Given the description of an element on the screen output the (x, y) to click on. 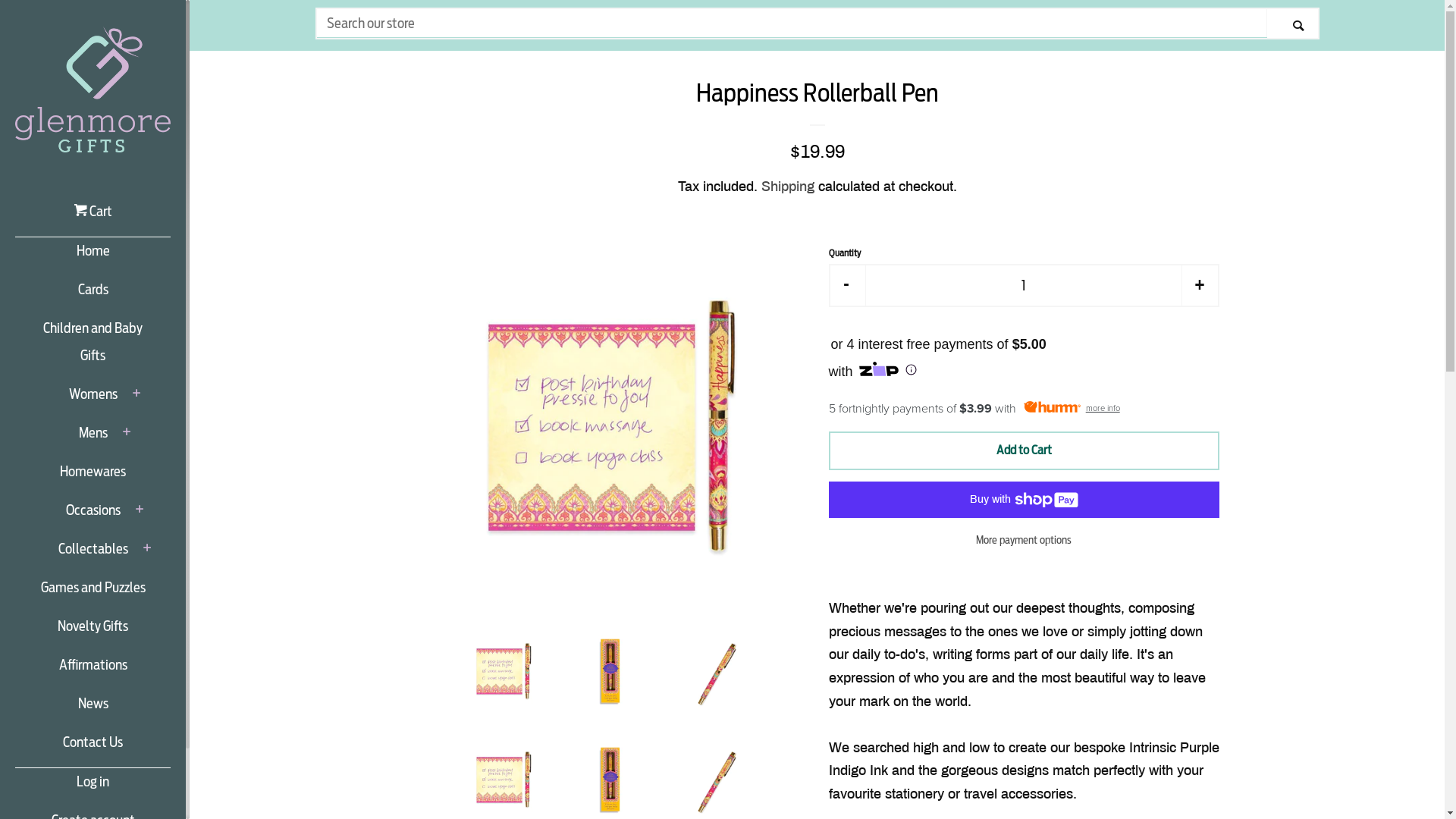
Search Element type: text (1291, 23)
5 fortnightly payments of $3.99 with more info Element type: text (1023, 408)
News Element type: text (92, 709)
Occasions Element type: text (92, 515)
Home Element type: text (92, 256)
Cart Element type: text (92, 216)
Contact Us Element type: text (92, 747)
Cards Element type: text (92, 295)
Close Element type: text (1394, 100)
Children and Baby Gifts Element type: text (92, 347)
Log in Element type: text (92, 787)
Games and Puzzles Element type: text (92, 593)
Shipping Element type: text (787, 186)
Womens Element type: text (92, 399)
More payment options Element type: text (1023, 539)
Affirmations Element type: text (92, 670)
Add to Cart Element type: text (1023, 450)
Homewares Element type: text (92, 477)
Mens Element type: text (92, 438)
Novelty Gifts Element type: text (92, 631)
Collectables Element type: text (92, 554)
